Given the description of an element on the screen output the (x, y) to click on. 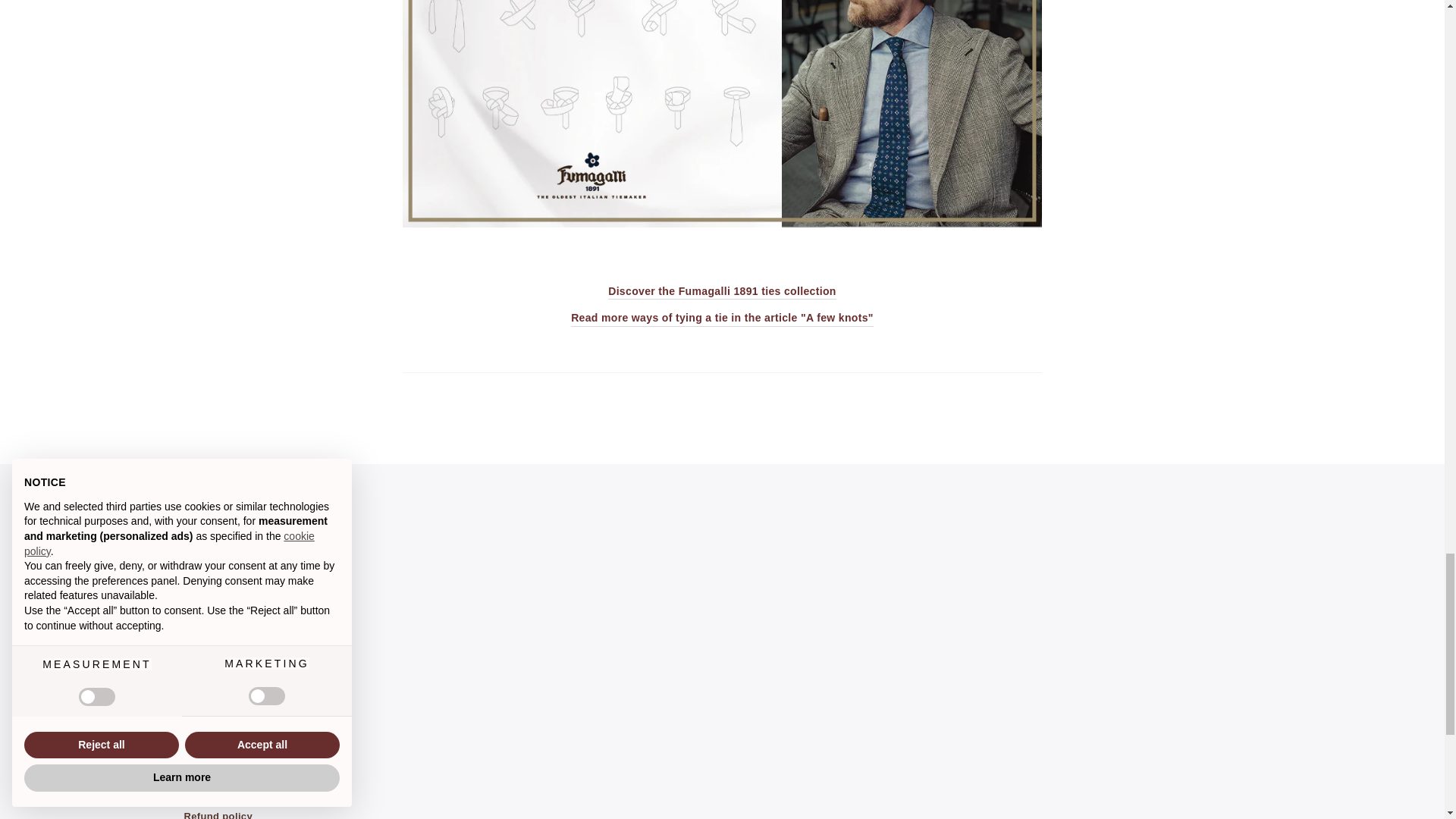
Evening Ties (722, 223)
